Given the description of an element on the screen output the (x, y) to click on. 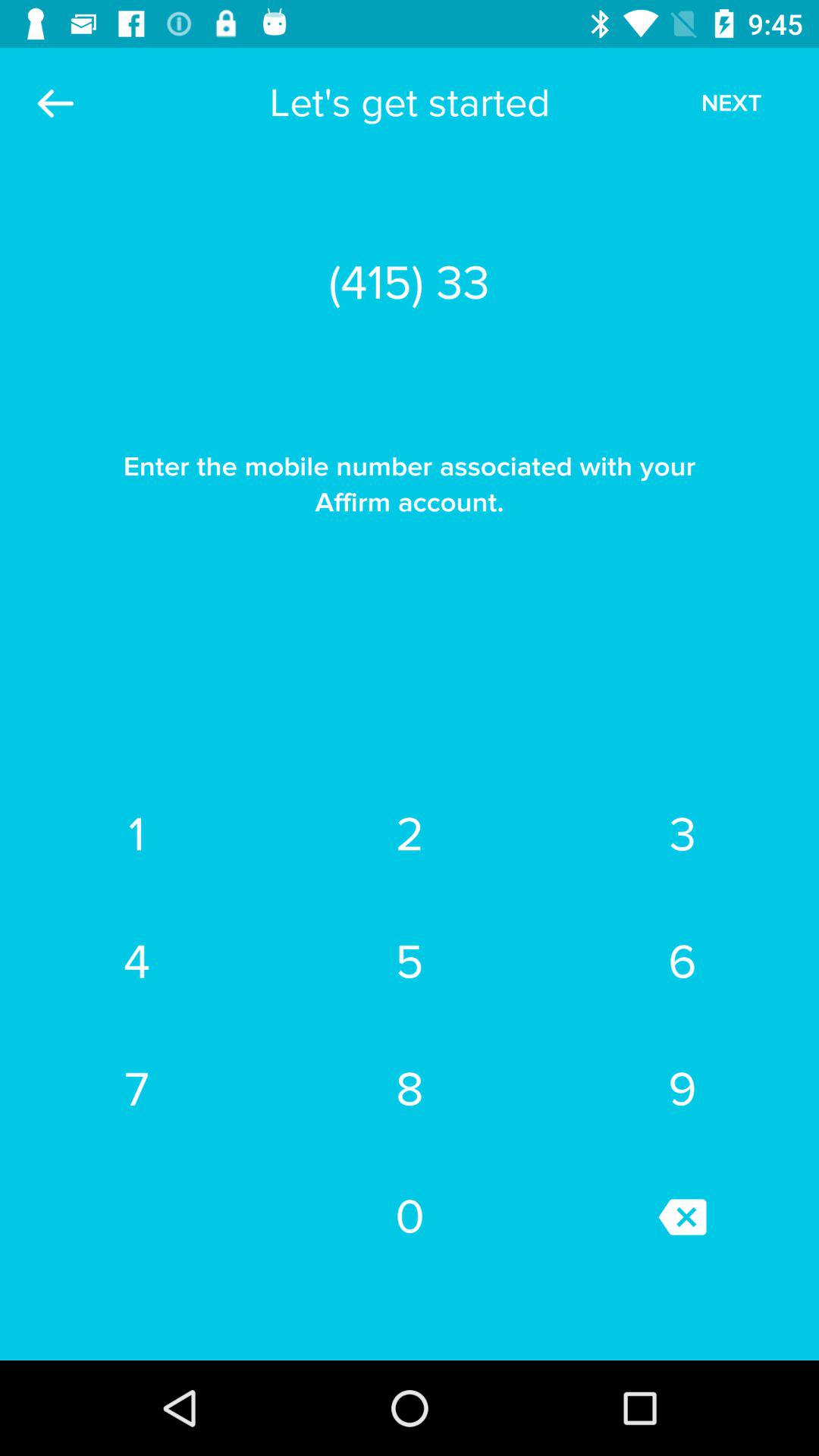
click the icon next to 6 item (409, 1089)
